Given the description of an element on the screen output the (x, y) to click on. 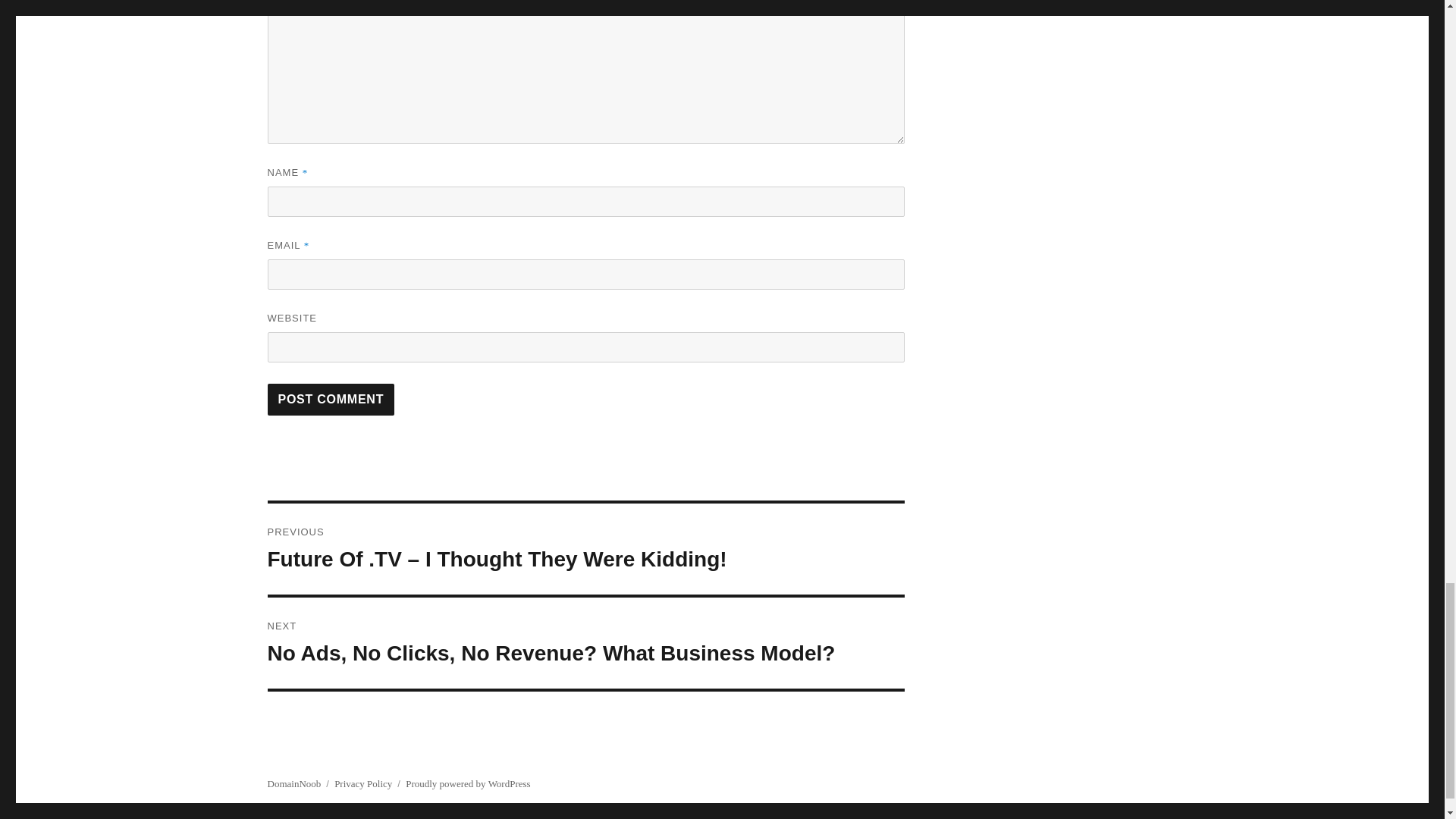
Post Comment (330, 399)
Post Comment (330, 399)
